Given the description of an element on the screen output the (x, y) to click on. 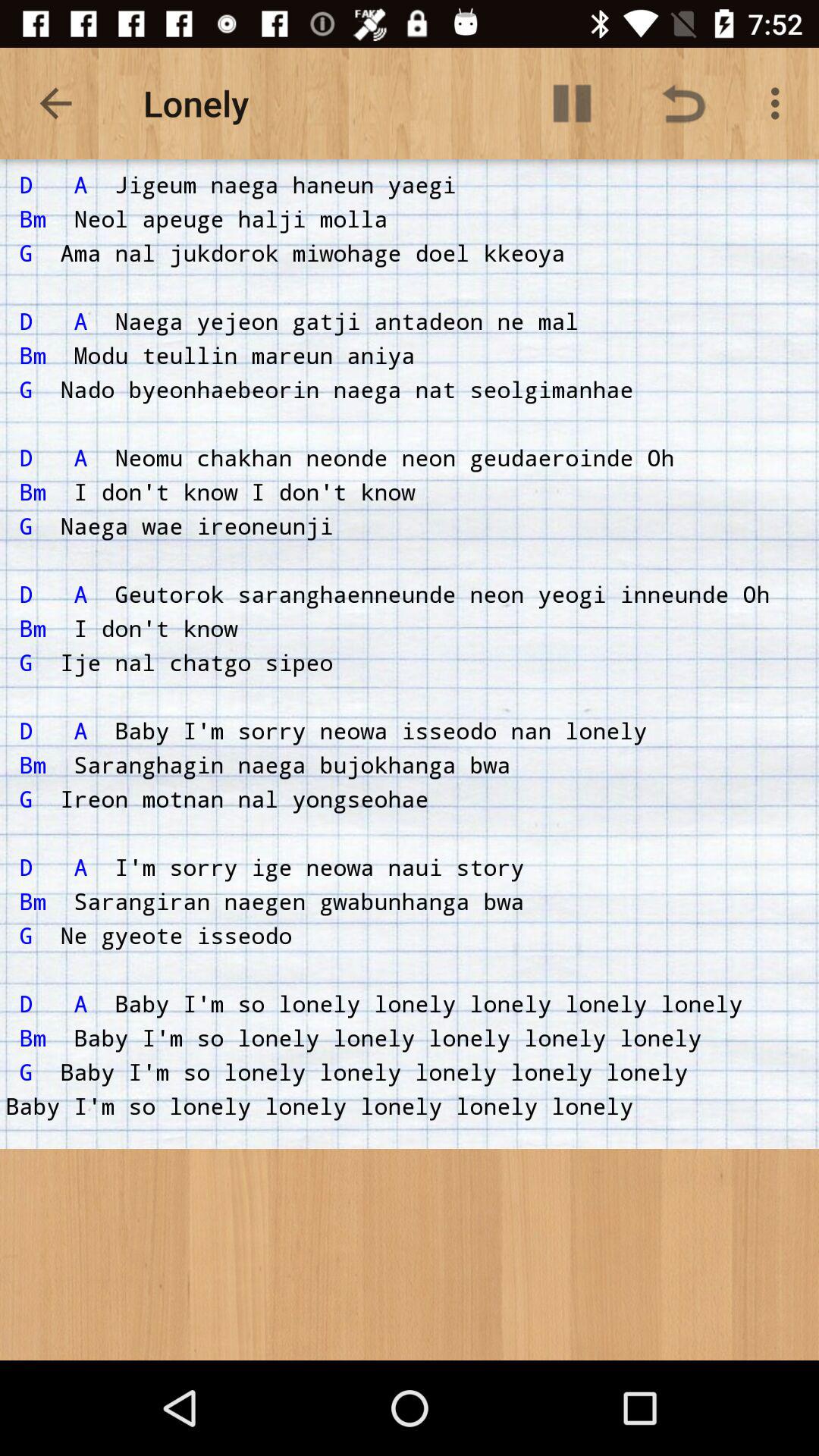
turn on the item to the right of the lonely item (571, 103)
